Given the description of an element on the screen output the (x, y) to click on. 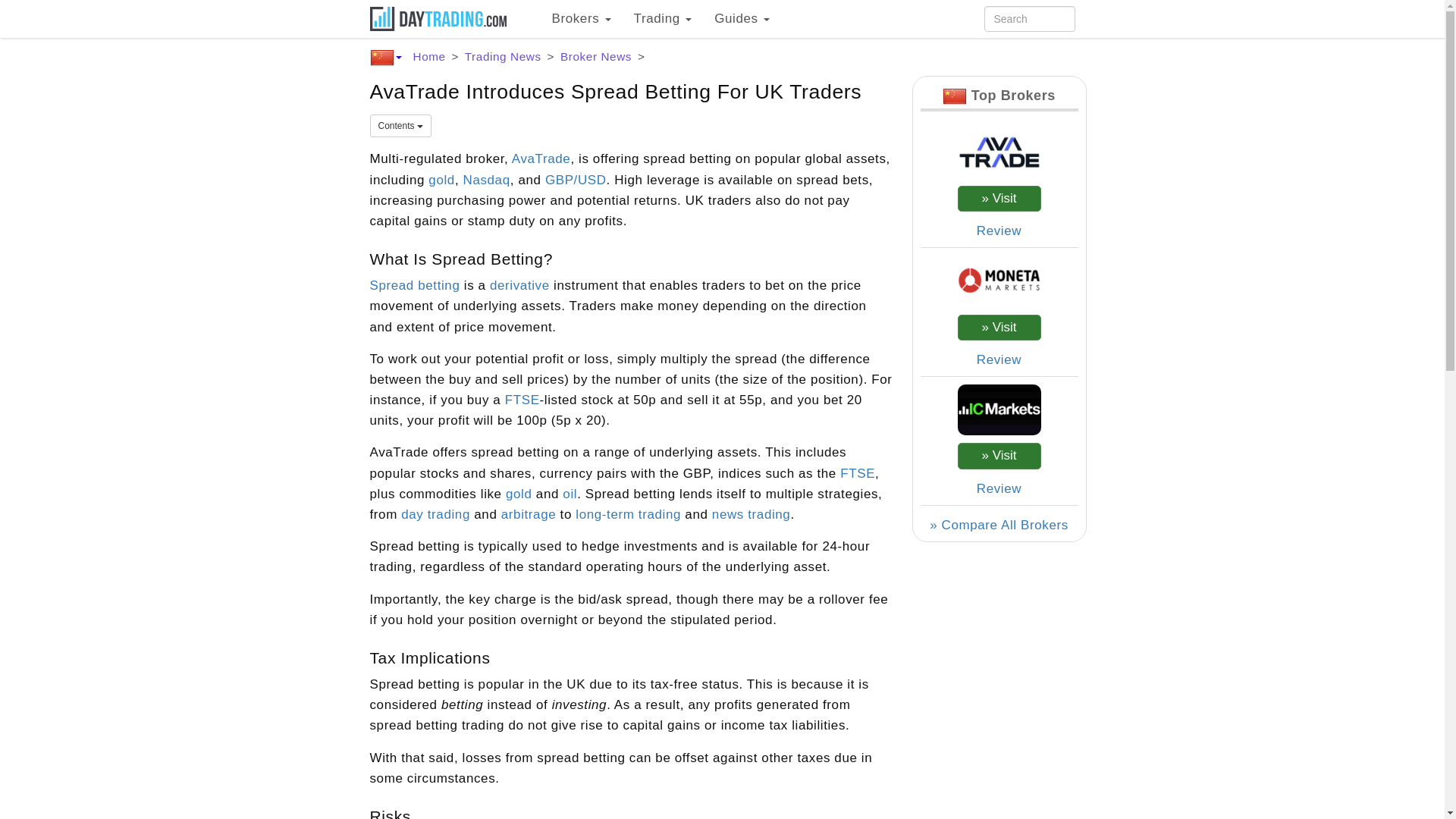
Trading News (502, 56)
Brokers (580, 18)
Change location (385, 57)
Trading (663, 18)
IC Markets Review (999, 488)
Moneta Markets Review (999, 359)
Home (428, 56)
Broker News (595, 56)
AvaTrade Review (999, 230)
